Given the description of an element on the screen output the (x, y) to click on. 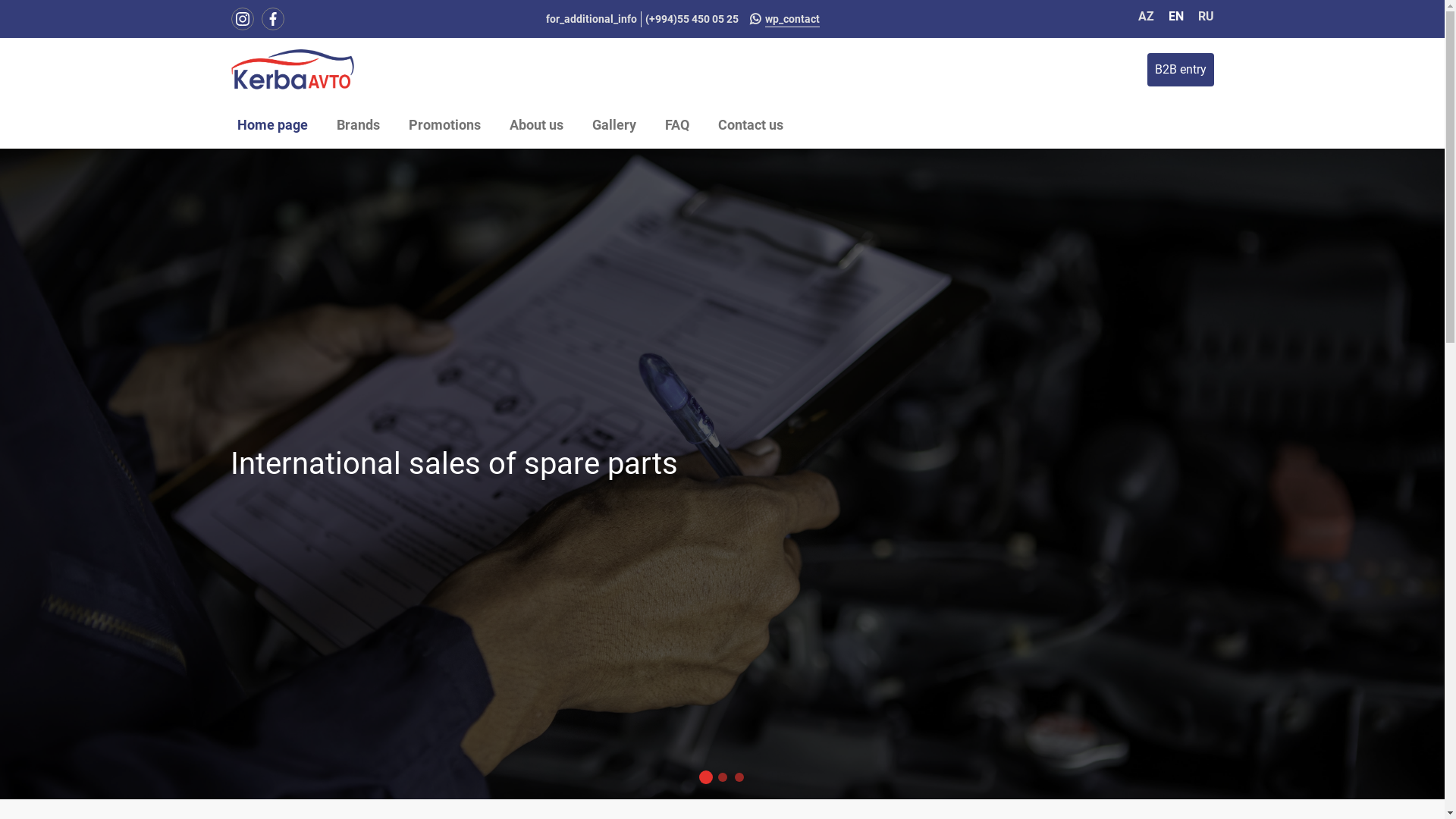
AZ Element type: text (1146, 16)
Promotions Element type: text (443, 124)
About us Element type: text (536, 124)
B2B entry Element type: text (1179, 69)
FAQ Element type: text (676, 124)
Contact us Element type: text (749, 124)
EN Element type: text (1176, 16)
for_additional_info
(+994)55 450 05 25
wp_contact Element type: text (680, 18)
Home page Element type: text (271, 124)
Gallery Element type: text (613, 124)
RU Element type: text (1206, 16)
Brands Element type: text (357, 124)
